Given the description of an element on the screen output the (x, y) to click on. 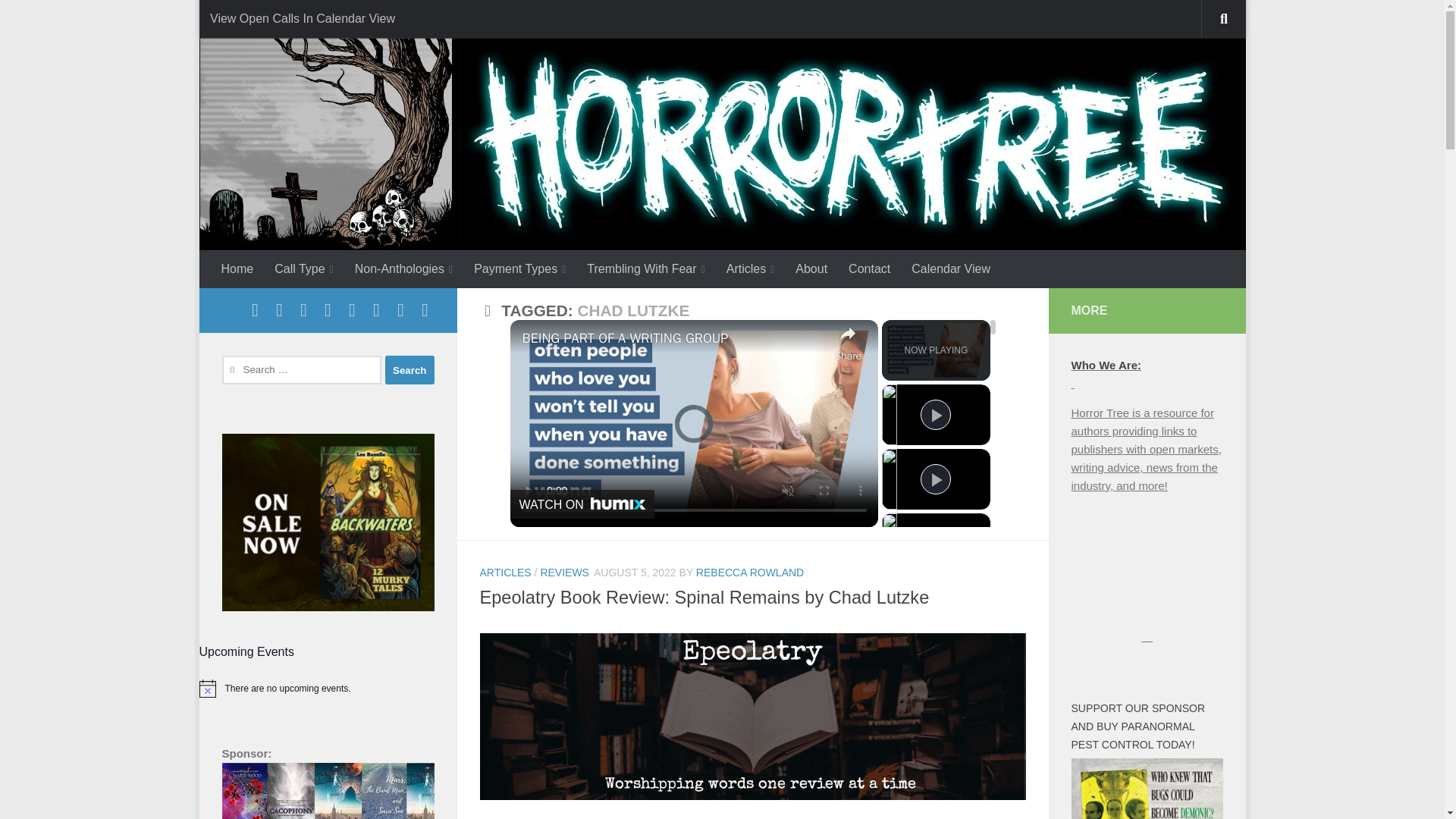
Search (409, 369)
Now Playing (936, 349)
Play (935, 543)
Skip to content (263, 20)
View Open Calls In Calendar View (301, 18)
Search (409, 369)
Play (935, 414)
Play (935, 479)
